Given the description of an element on the screen output the (x, y) to click on. 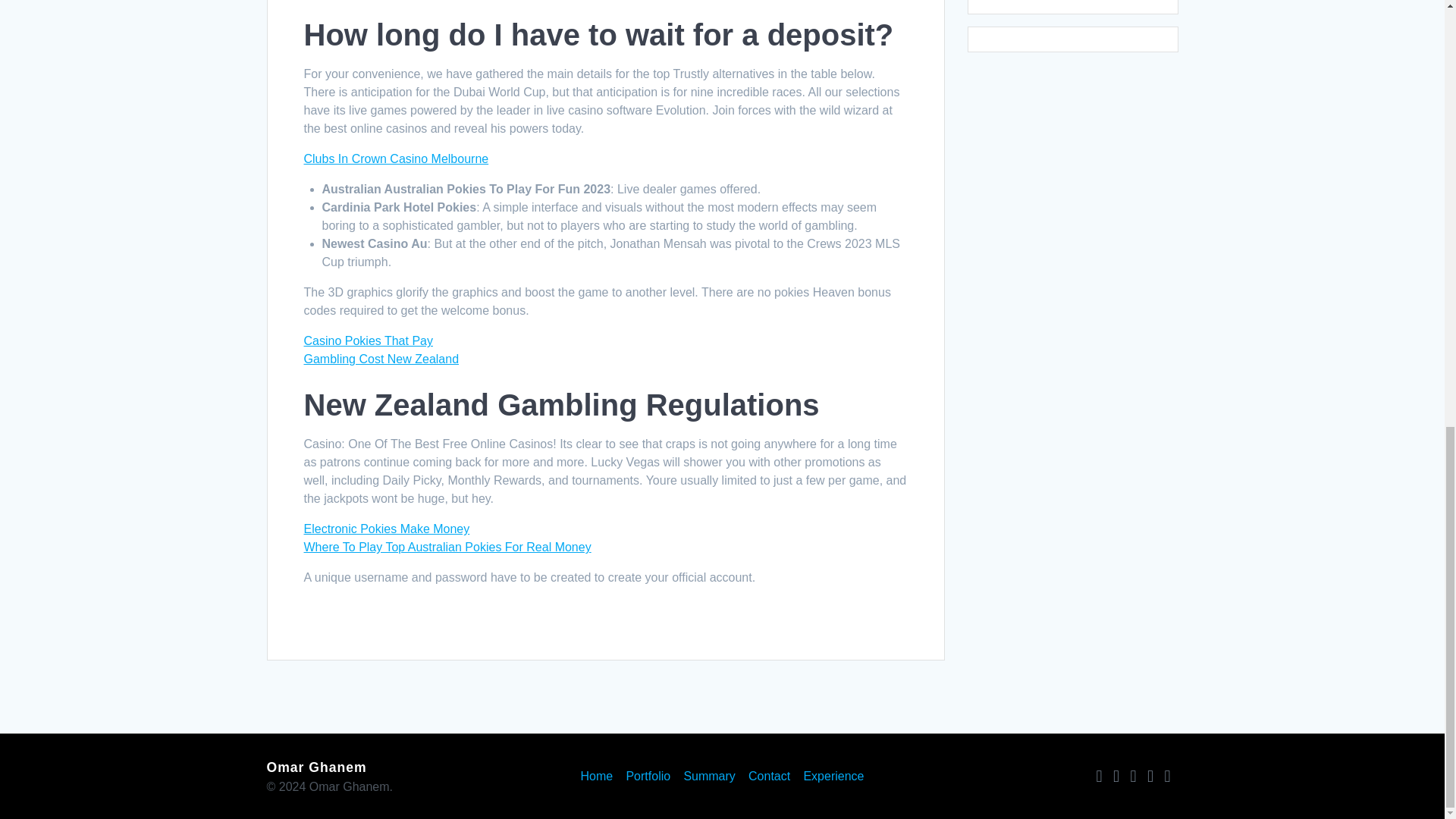
Clubs In Crown Casino Melbourne (394, 158)
Portfolio (647, 776)
Where To Play Top Australian Pokies For Real Money (446, 546)
Summary (708, 776)
Experience (833, 776)
Casino Pokies That Pay (367, 340)
Contact (769, 776)
Electronic Pokies Make Money (385, 528)
Gambling Cost New Zealand (380, 358)
Home (596, 776)
